Given the description of an element on the screen output the (x, y) to click on. 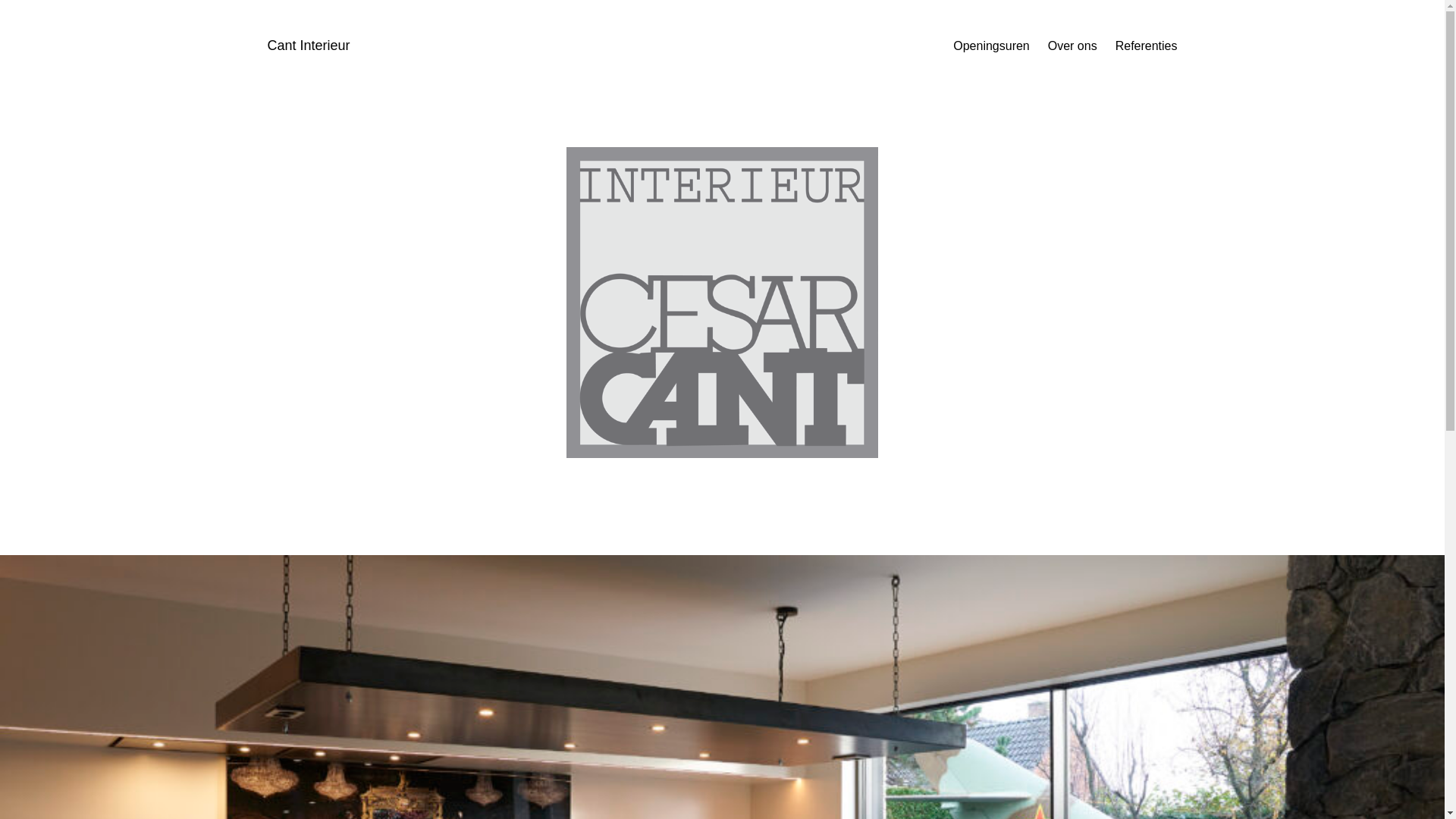
Referenties Element type: text (1146, 46)
Cant Interieur Element type: text (307, 45)
Over ons Element type: text (1072, 46)
Openingsuren Element type: text (991, 46)
